Given the description of an element on the screen output the (x, y) to click on. 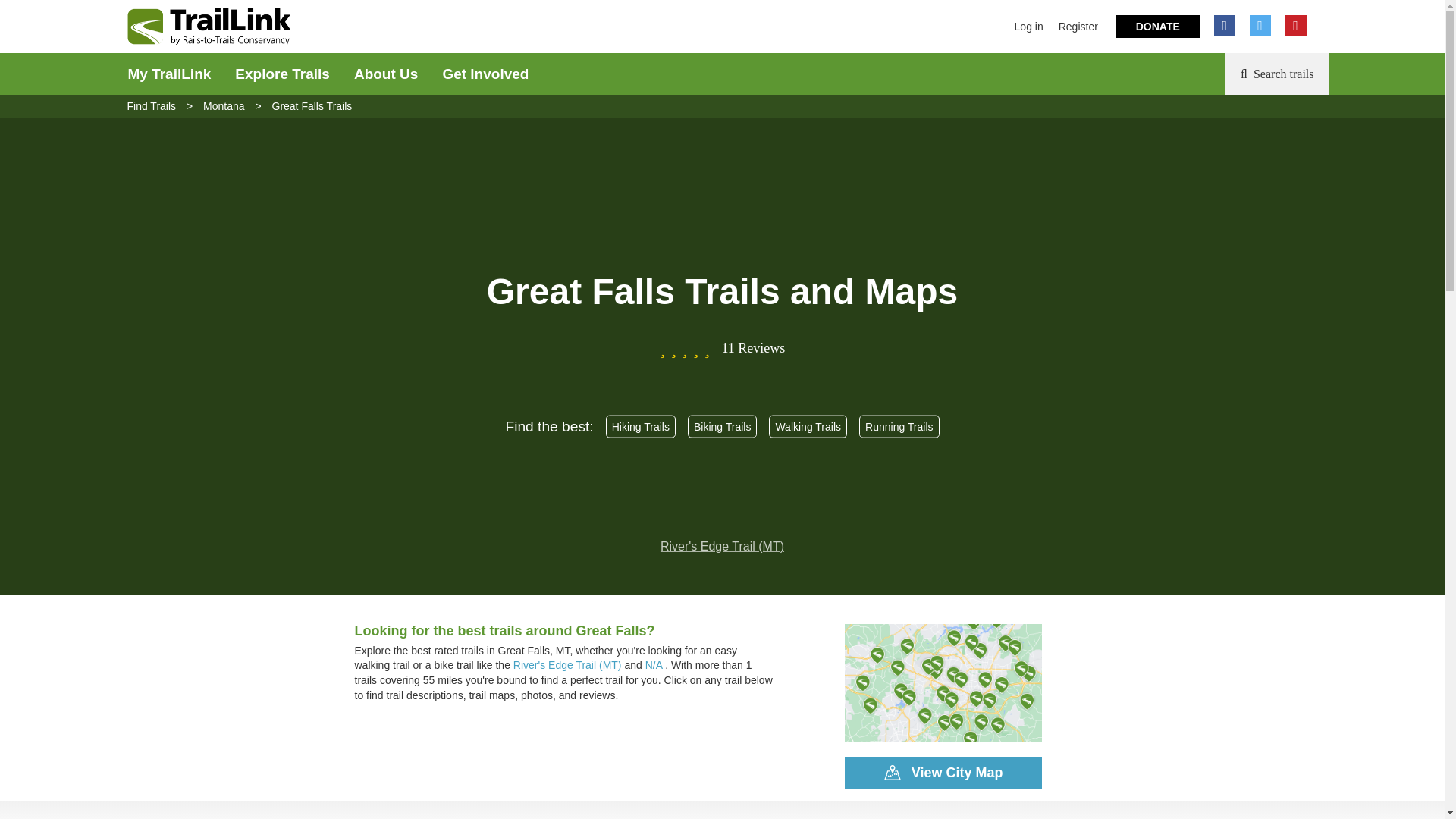
Find Trails (152, 105)
About Us (385, 74)
Log in (1028, 26)
Hiking Trails (640, 426)
Explore Trails (282, 74)
Search trails (1276, 74)
Montana (223, 105)
My TrailLink (168, 74)
Hiking Trails (640, 426)
DONATE (1157, 26)
